Given the description of an element on the screen output the (x, y) to click on. 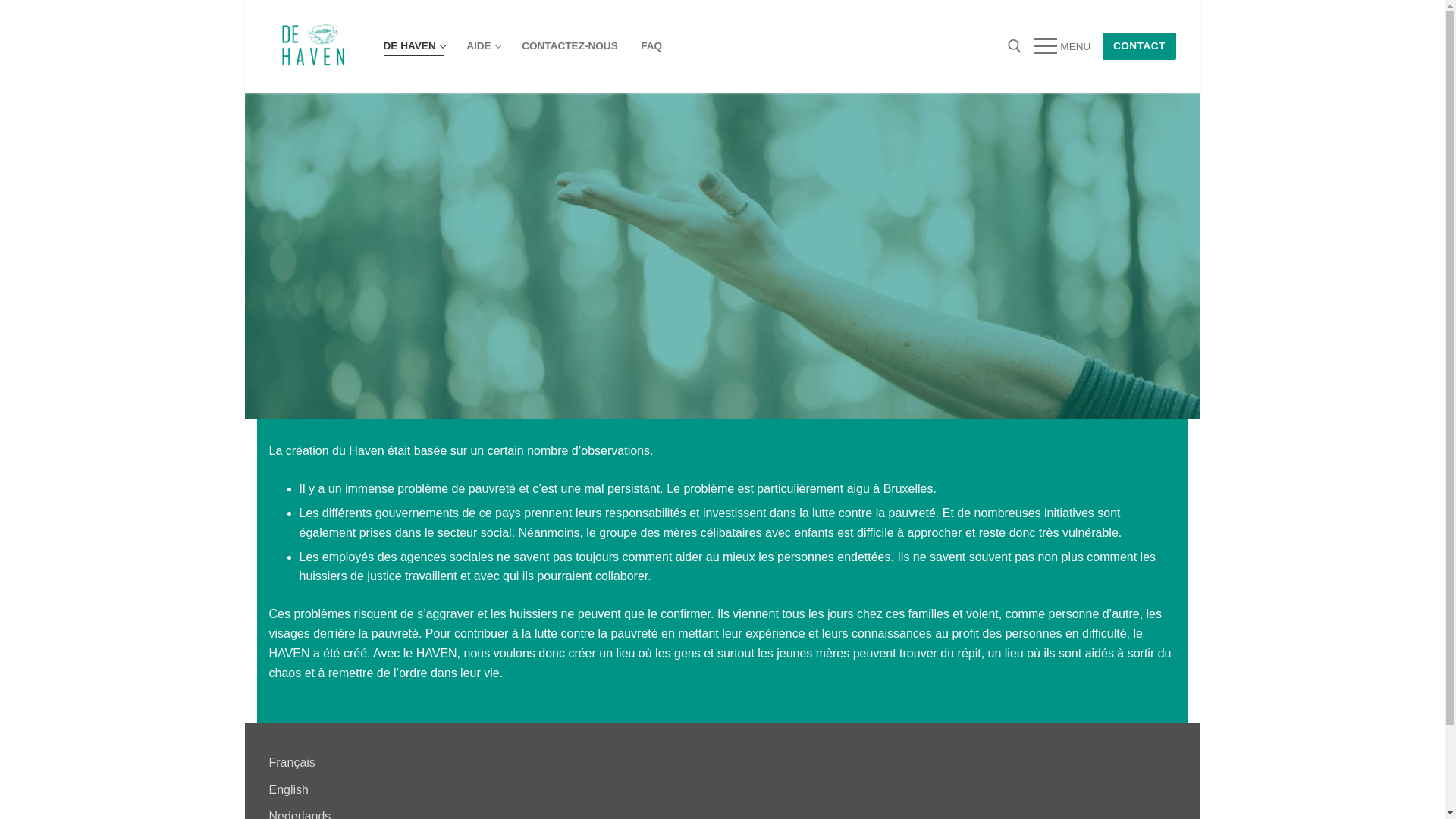
CONTACTEZ-NOUS Element type: text (569, 45)
English Element type: text (287, 789)
FAQ Element type: text (650, 45)
MENU Element type: text (1061, 46)
AIDE
  Element type: text (482, 45)
DE HAVEN
  Element type: text (412, 45)
CONTACT Element type: text (1138, 46)
Aller au contenu Element type: text (244, 0)
